Given the description of an element on the screen output the (x, y) to click on. 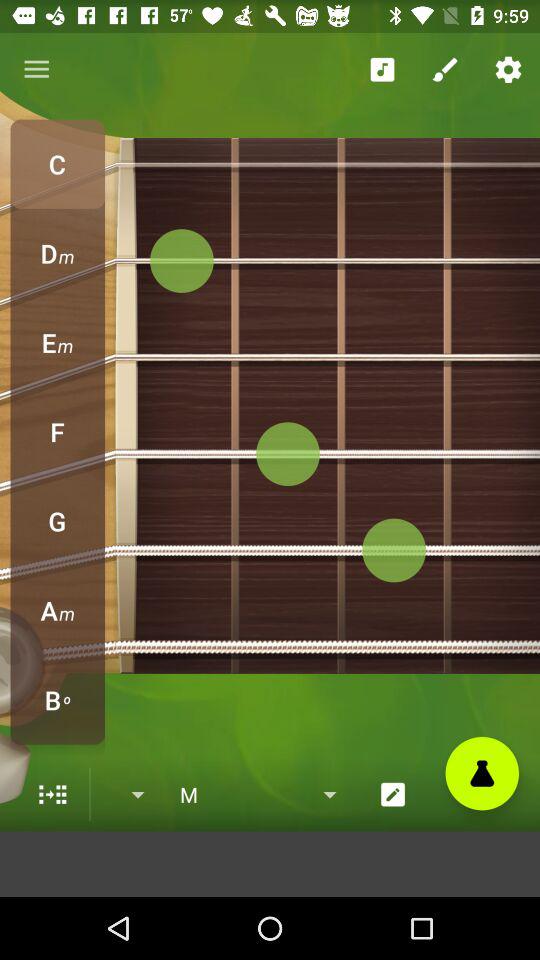
advertisement page (270, 864)
